Given the description of an element on the screen output the (x, y) to click on. 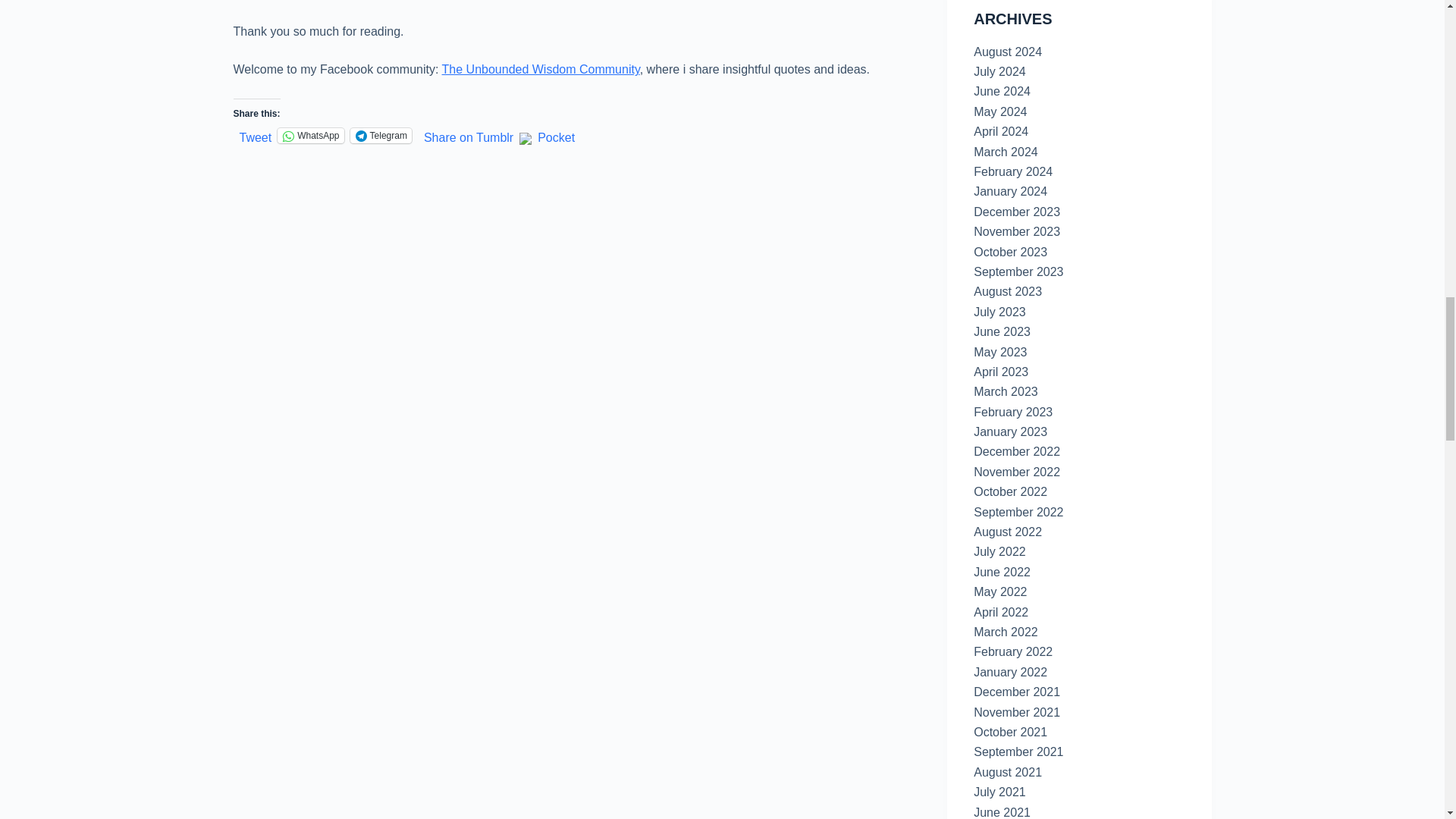
Share on Tumblr (468, 134)
Click to share on WhatsApp (310, 135)
Click to share on Telegram (381, 135)
